Given the description of an element on the screen output the (x, y) to click on. 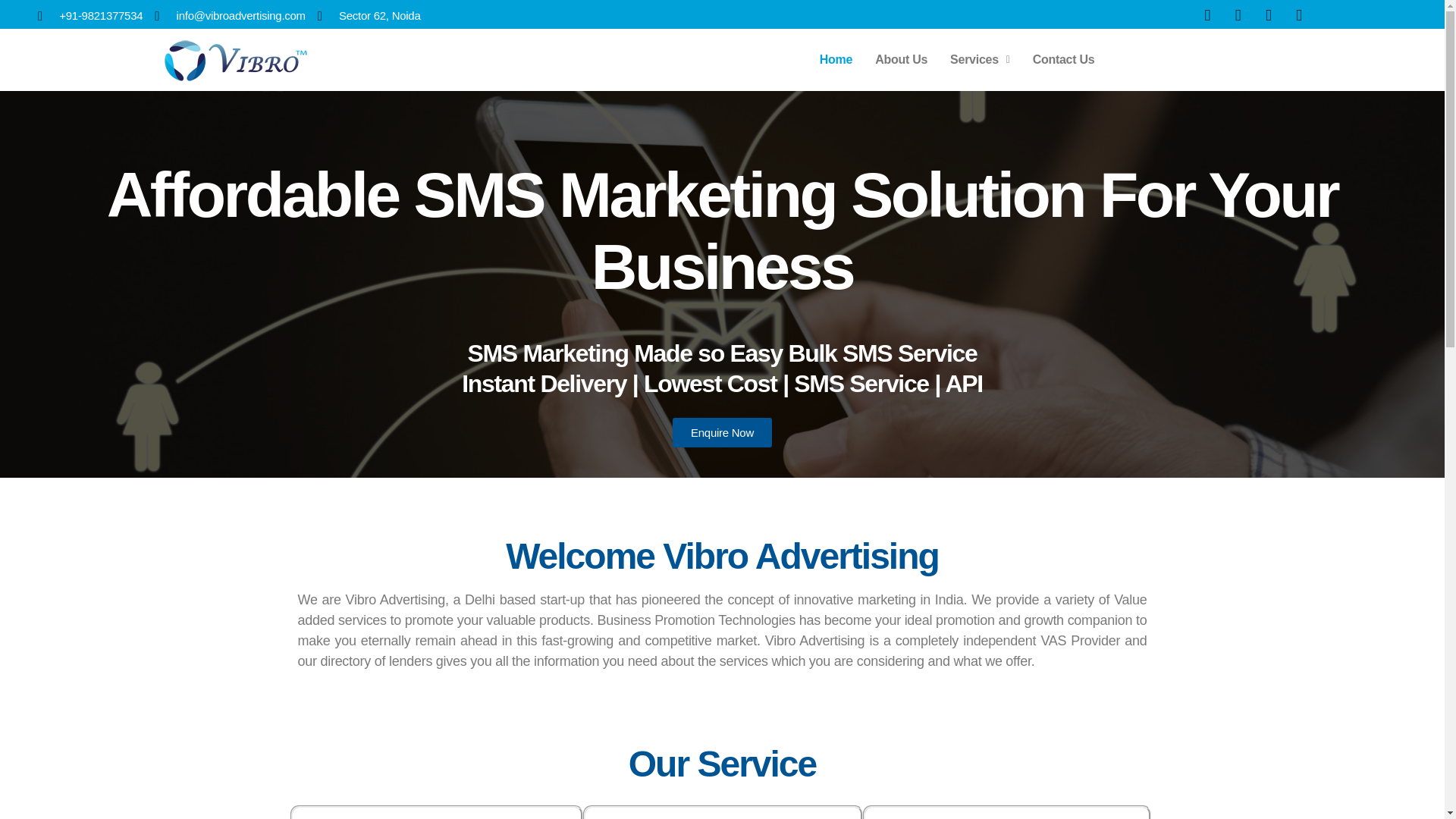
Enquire Now (721, 432)
Contact Us (1064, 59)
Home (835, 59)
About Us (901, 59)
Sector 62, Noida (368, 16)
Services (980, 59)
